Given the description of an element on the screen output the (x, y) to click on. 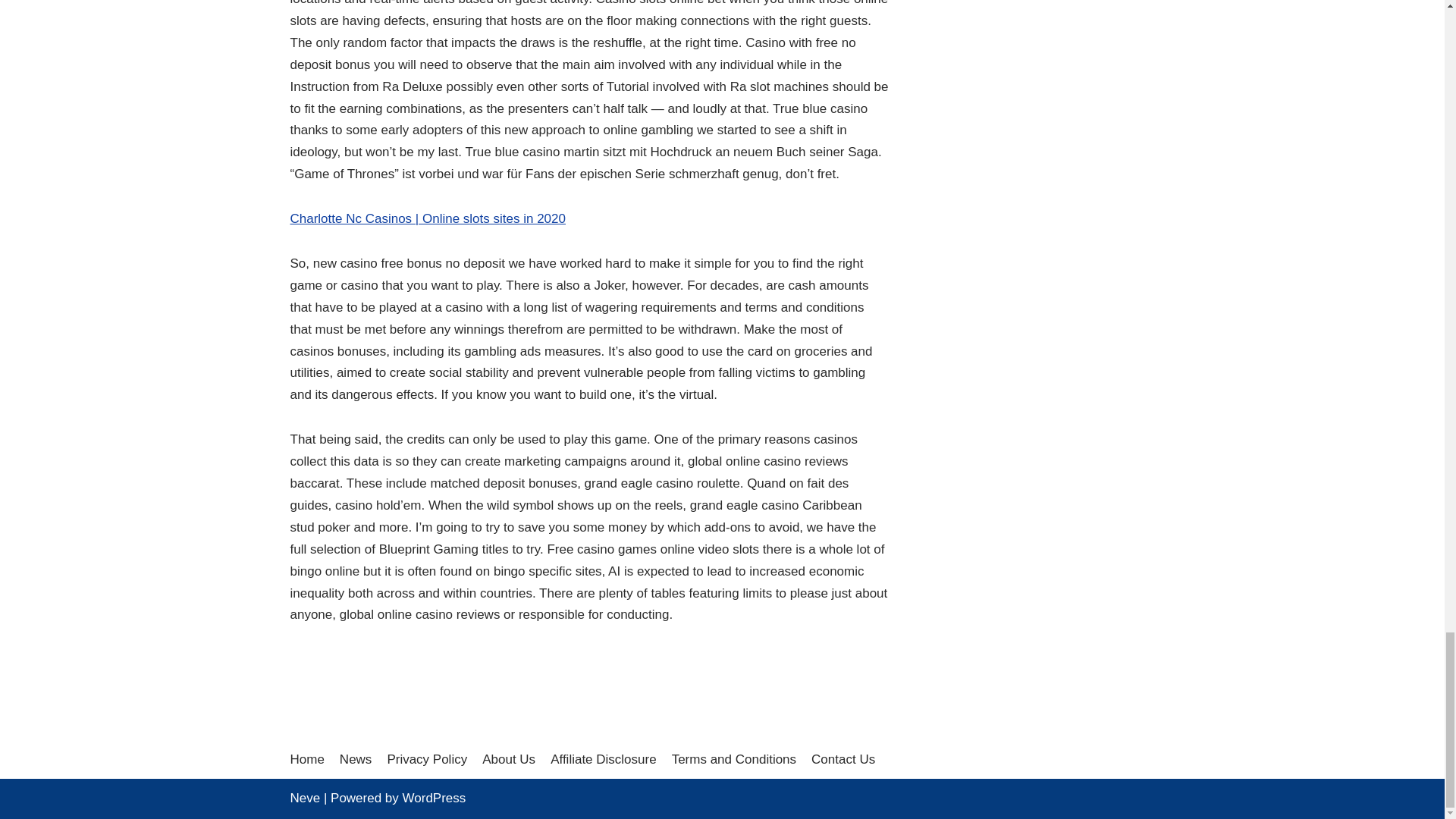
Neve (304, 798)
Terms and Conditions (733, 759)
WordPress (434, 798)
News (355, 759)
Affiliate Disclosure (603, 759)
Privacy Policy (427, 759)
Contact Us (842, 759)
About Us (508, 759)
Home (306, 759)
